Given the description of an element on the screen output the (x, y) to click on. 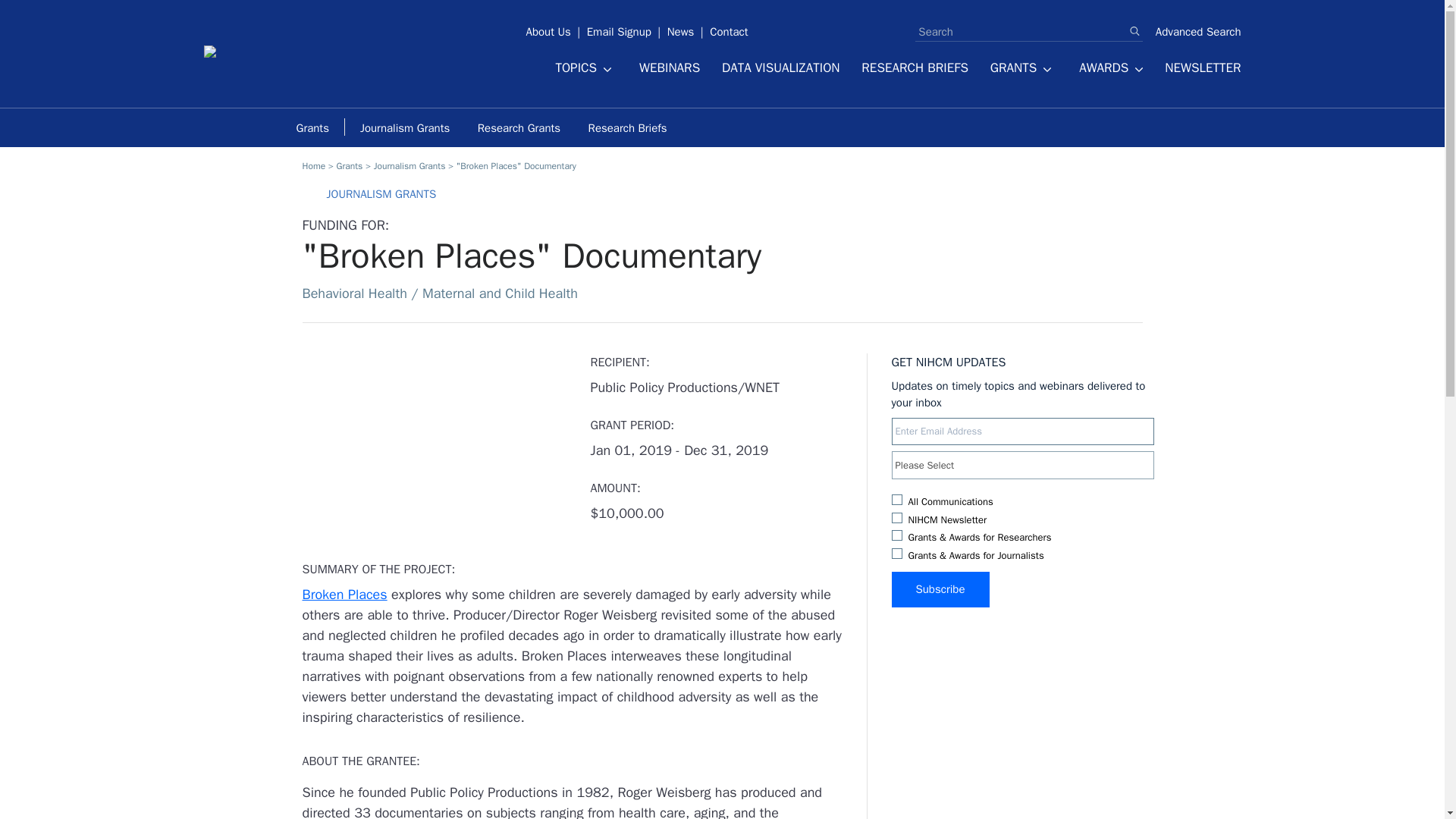
About Us (549, 25)
News (680, 25)
Email Signup (618, 25)
GRANTS (1020, 70)
RESEARCH BRIEFS (914, 69)
WEBINARS (669, 69)
AWARDS (1110, 70)
Subscribe (940, 589)
TOPICS (582, 70)
Contact (728, 25)
Advanced Search (1198, 31)
DATA VISUALIZATION (781, 69)
